Given the description of an element on the screen output the (x, y) to click on. 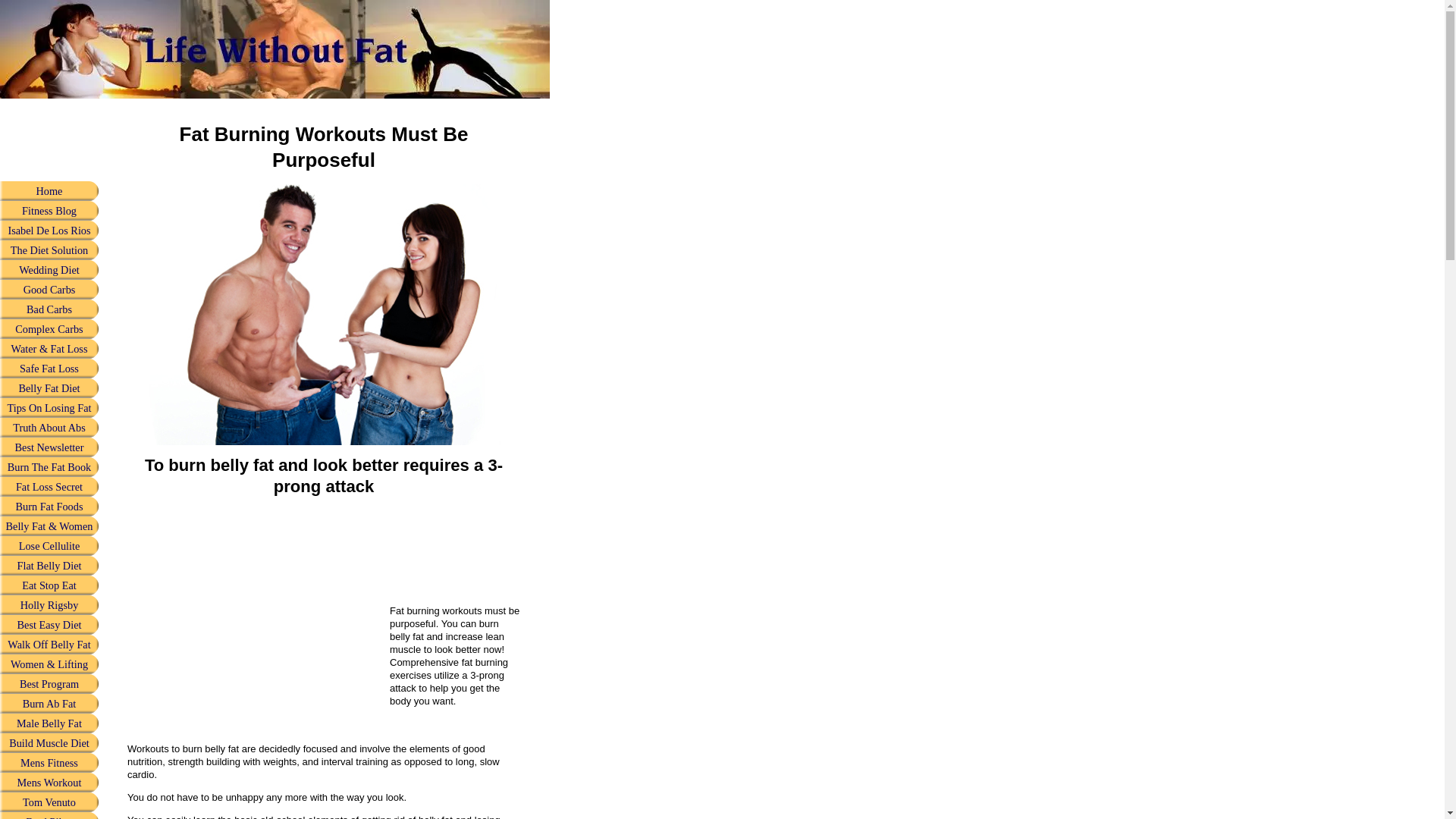
Belly Fat Diet (49, 388)
Mens Fitness (49, 762)
Burn Fat Foods (49, 506)
Build Muscle Diet (49, 742)
Good Carbs (49, 289)
Best Newsletter (49, 447)
The Diet Solution (49, 250)
Bad Carbs (49, 309)
Holly Rigsby (49, 605)
Best Program (49, 683)
